Given the description of an element on the screen output the (x, y) to click on. 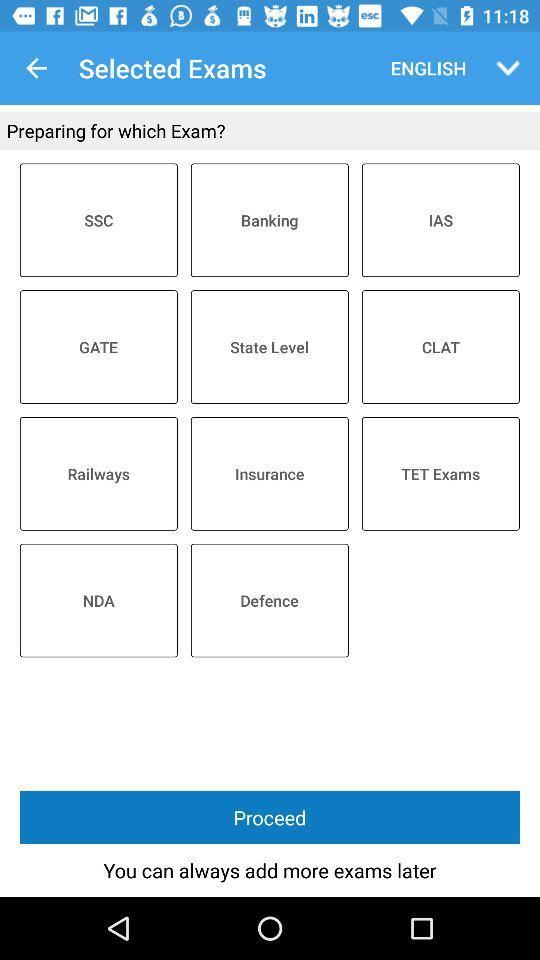
open app to the right of the selected exams item (423, 67)
